Given the description of an element on the screen output the (x, y) to click on. 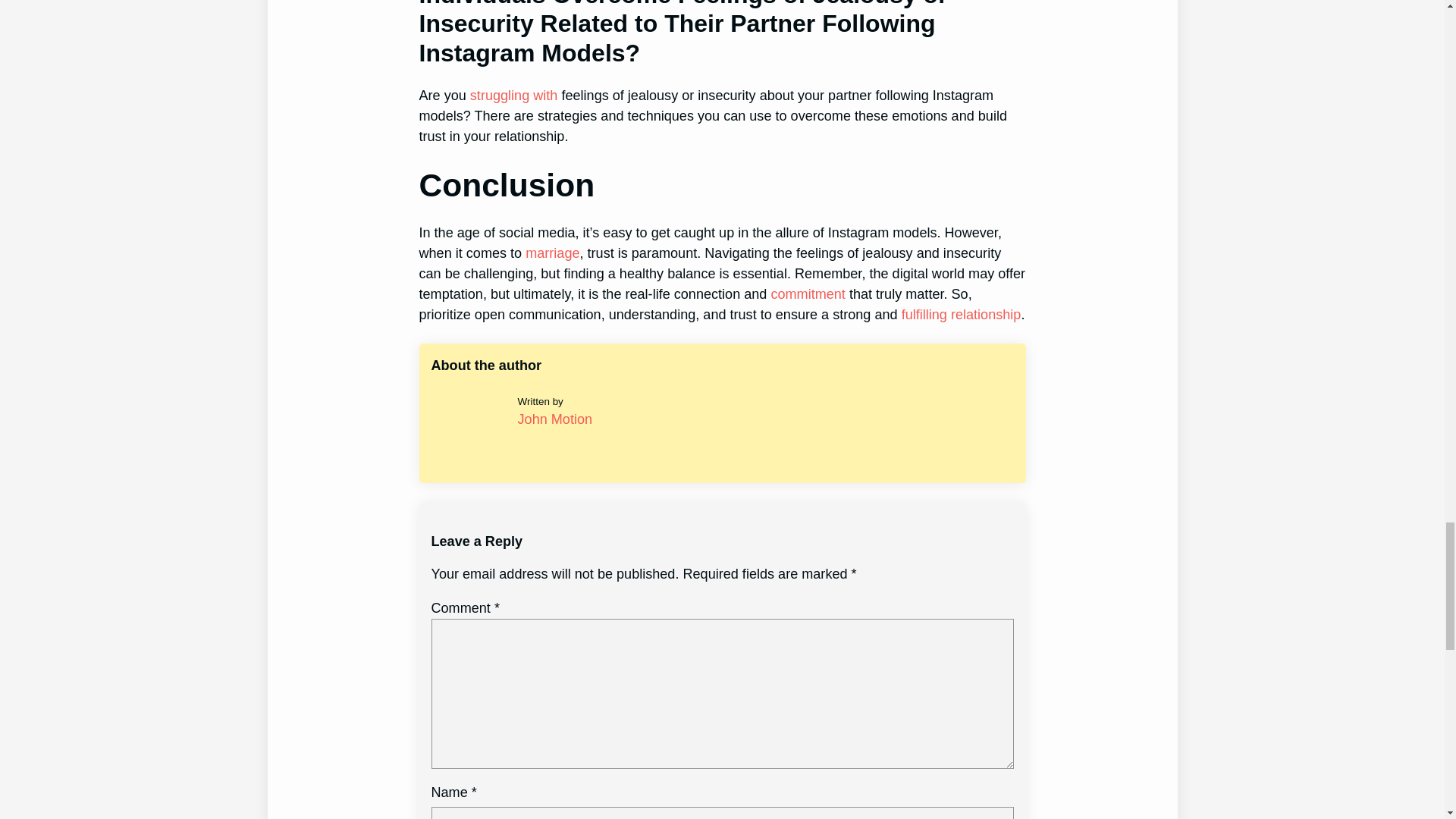
struggling with (513, 95)
struggling with (513, 95)
marriage (552, 253)
commitment (807, 294)
marriage (552, 253)
commitment (807, 294)
fulfilling relationship (961, 314)
fulfilling relationship (961, 314)
John Motion (555, 418)
